Given the description of an element on the screen output the (x, y) to click on. 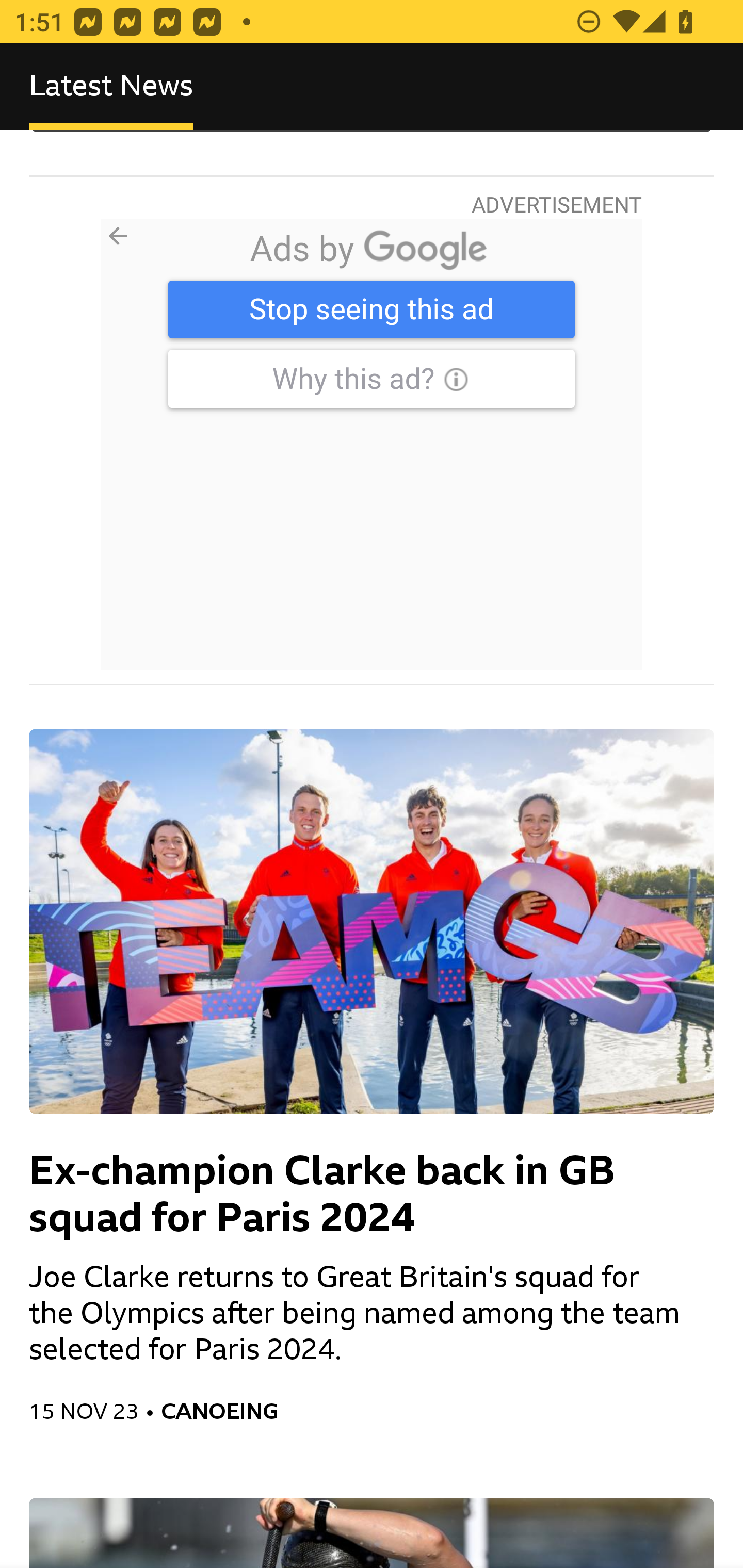
Latest News, selected Latest News (111, 86)
